Given the description of an element on the screen output the (x, y) to click on. 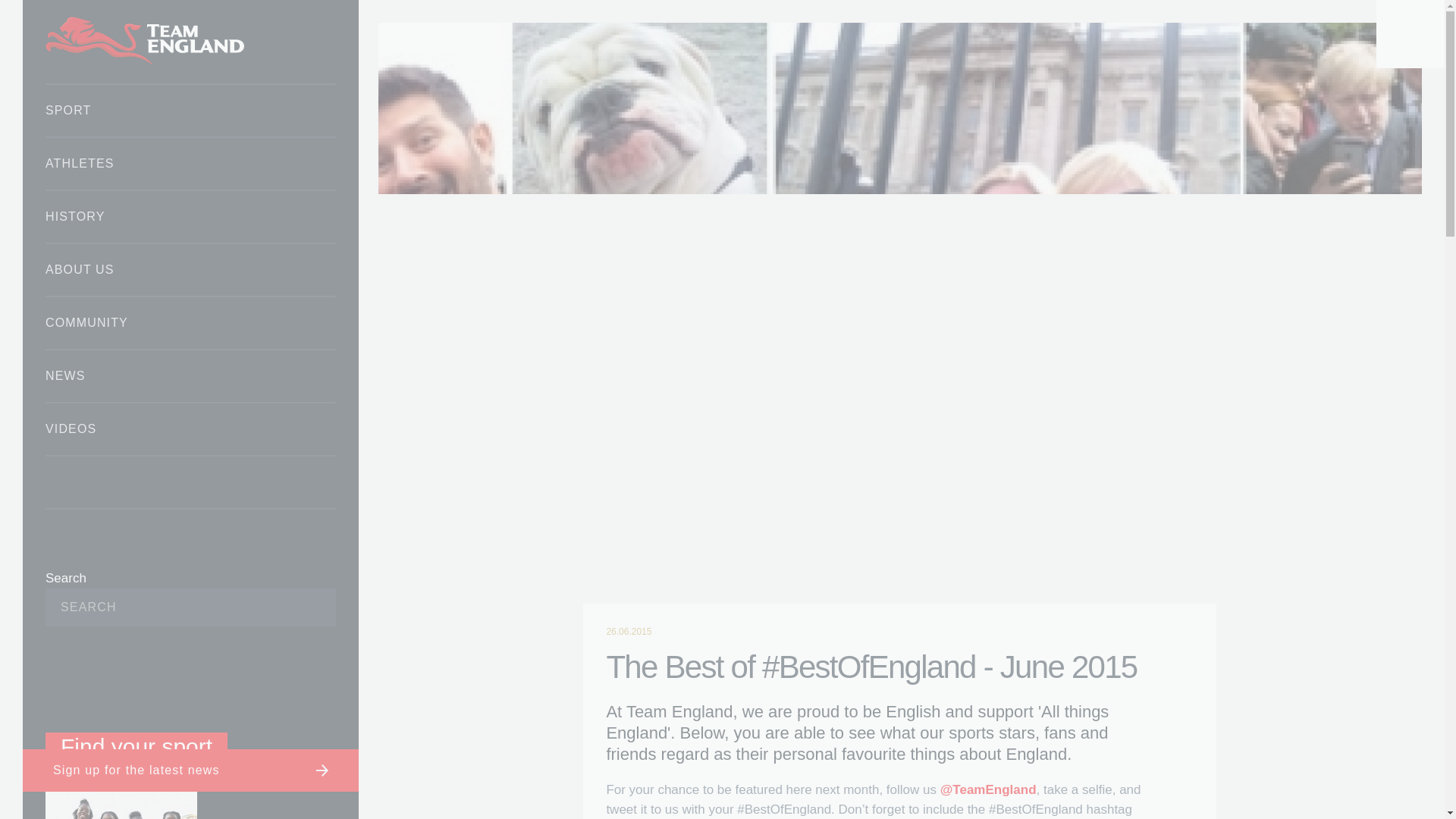
Subscribe (301, 607)
SPORT (190, 110)
Subscribe (301, 607)
Commonwealth Games England (190, 41)
HISTORY (190, 216)
ATHLETES (190, 163)
